Given the description of an element on the screen output the (x, y) to click on. 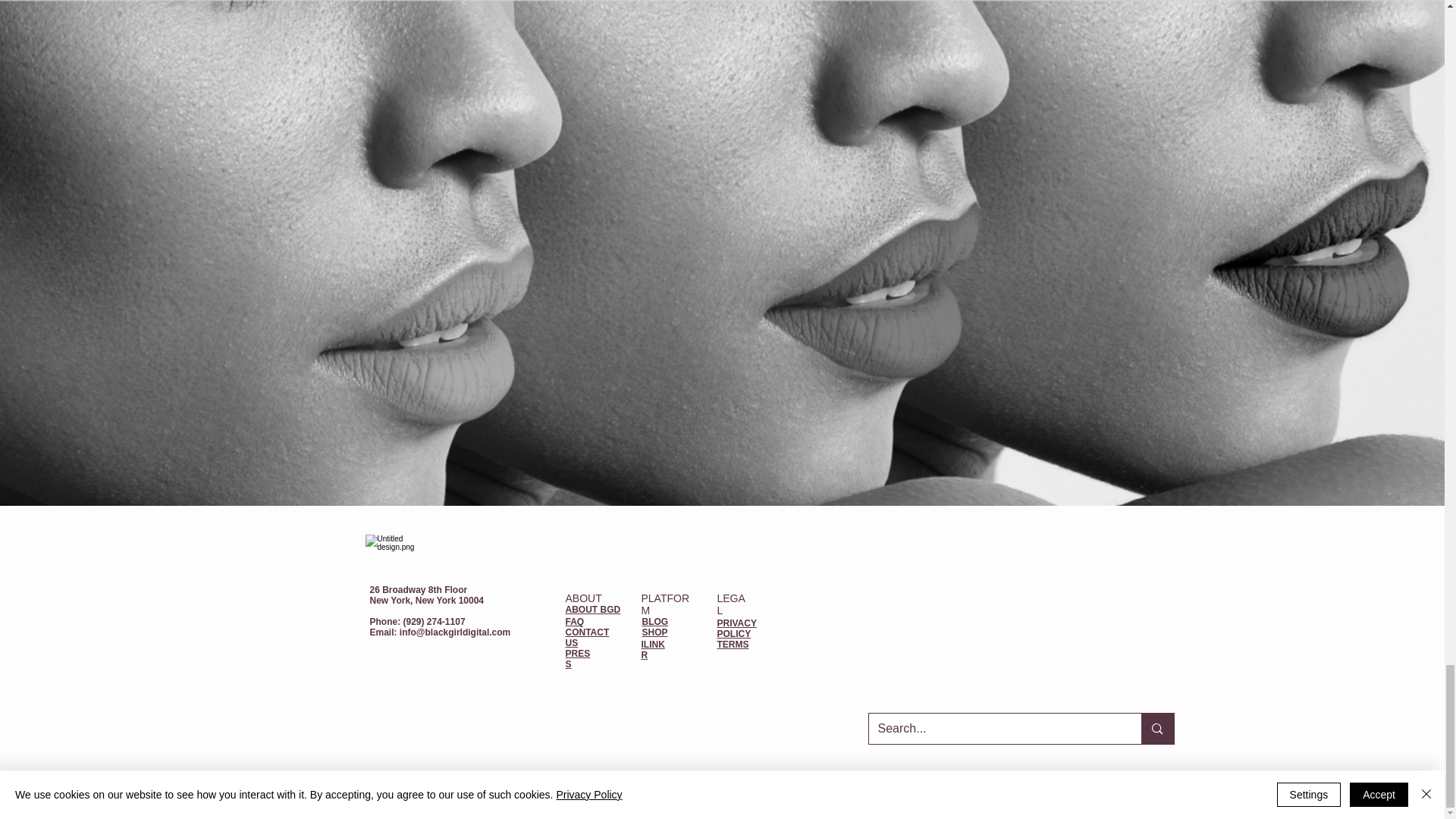
BLOG (655, 621)
ABOUT BGD (593, 609)
SHOP (654, 632)
FAQ (575, 621)
ILINKR (653, 649)
TERMS (733, 644)
CONTACT US (588, 637)
PRESS (578, 658)
PRIVACY POLICY (737, 628)
